Given the description of an element on the screen output the (x, y) to click on. 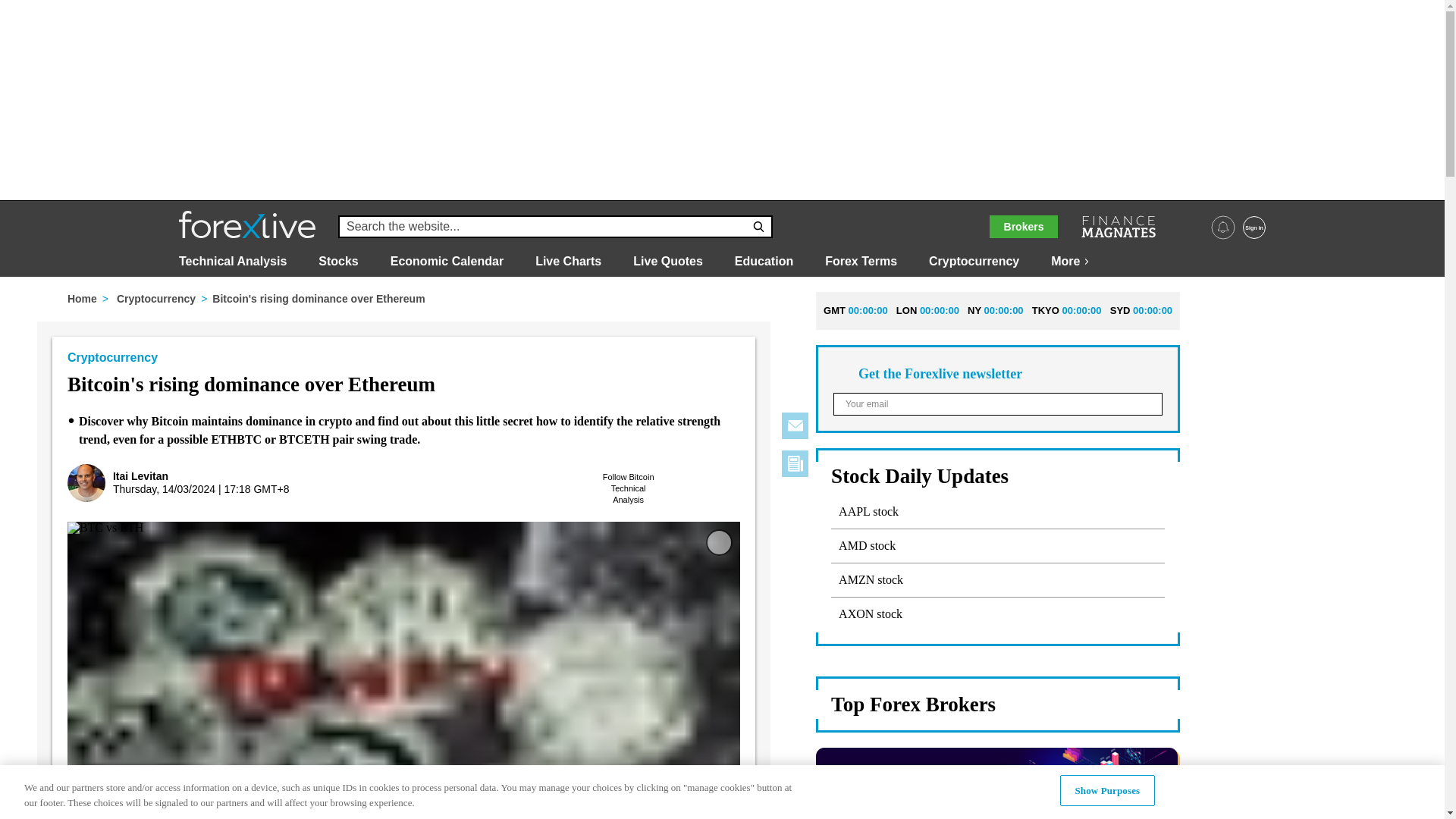
Forex Terms (860, 260)
Bitcoin's rising dominance over Ethereum (676, 492)
Technical Analysis (232, 260)
Education (764, 260)
Financial and Business News (1118, 226)
Economic Calendar (446, 260)
Stocks (338, 260)
Follow Bitcoin Technical Analysis (628, 488)
Live Quotes (668, 260)
Sign in (1254, 227)
